Given the description of an element on the screen output the (x, y) to click on. 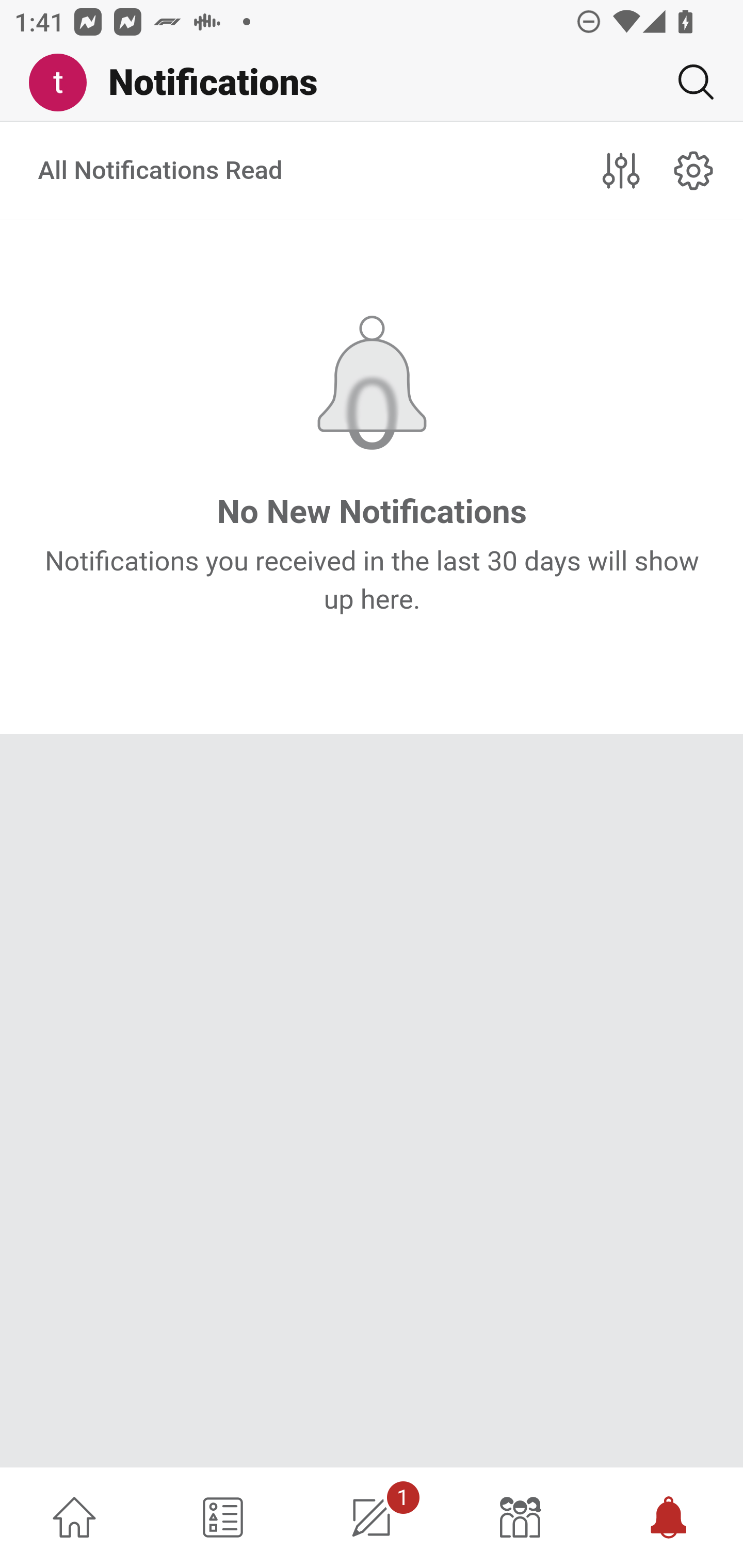
Me (64, 83)
Search (688, 82)
All Notifications Read (160, 171)
notifications# (693, 170)
1 (371, 1517)
